Given the description of an element on the screen output the (x, y) to click on. 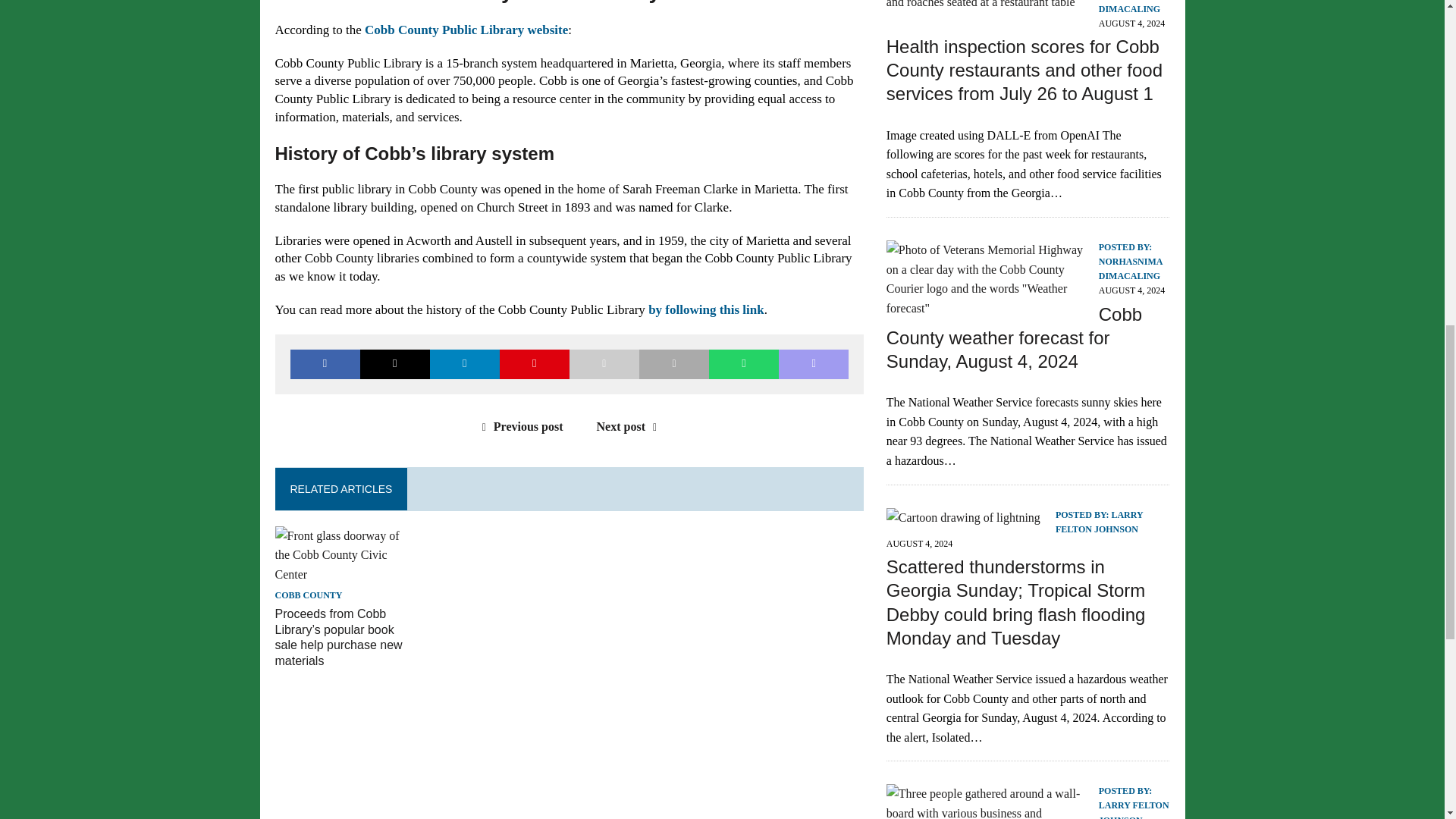
Cobb County Public Library website (465, 29)
by following this link (704, 309)
